Given the description of an element on the screen output the (x, y) to click on. 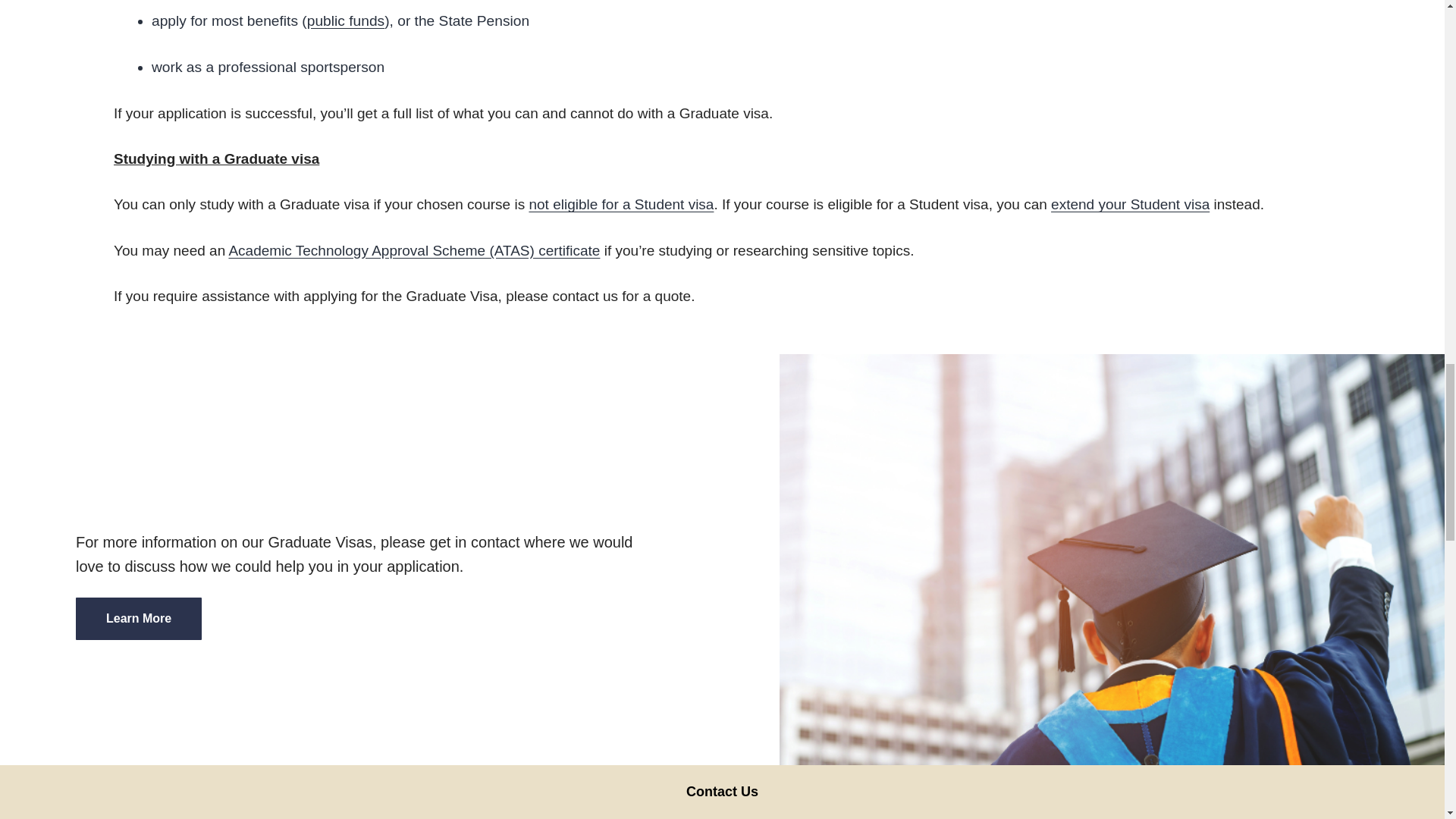
public funds (345, 20)
not eligible for a Student visa (620, 204)
Learn More (138, 618)
extend your Student visa (1130, 204)
